Given the description of an element on the screen output the (x, y) to click on. 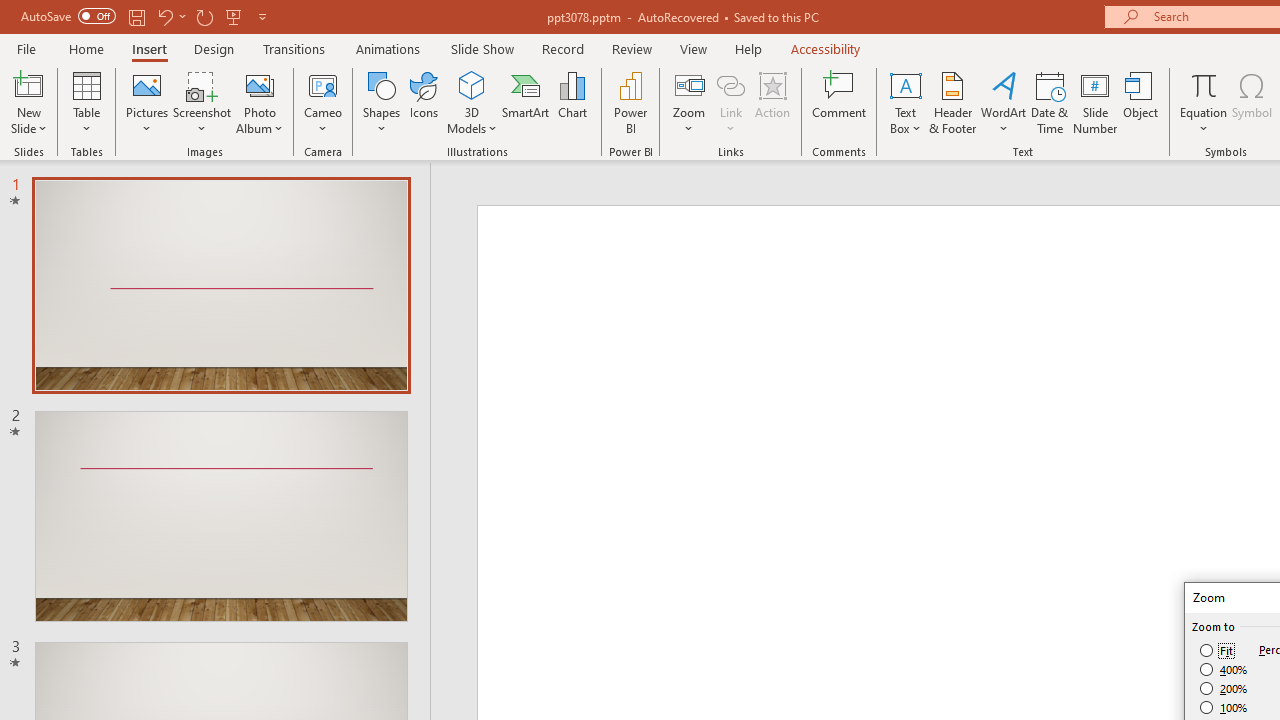
Header & Footer... (952, 102)
Symbol... (1252, 102)
Screenshot (202, 102)
3D Models (472, 84)
Power BI (630, 102)
Fit (1217, 650)
Draw Horizontal Text Box (905, 84)
Object... (1141, 102)
